Given the description of an element on the screen output the (x, y) to click on. 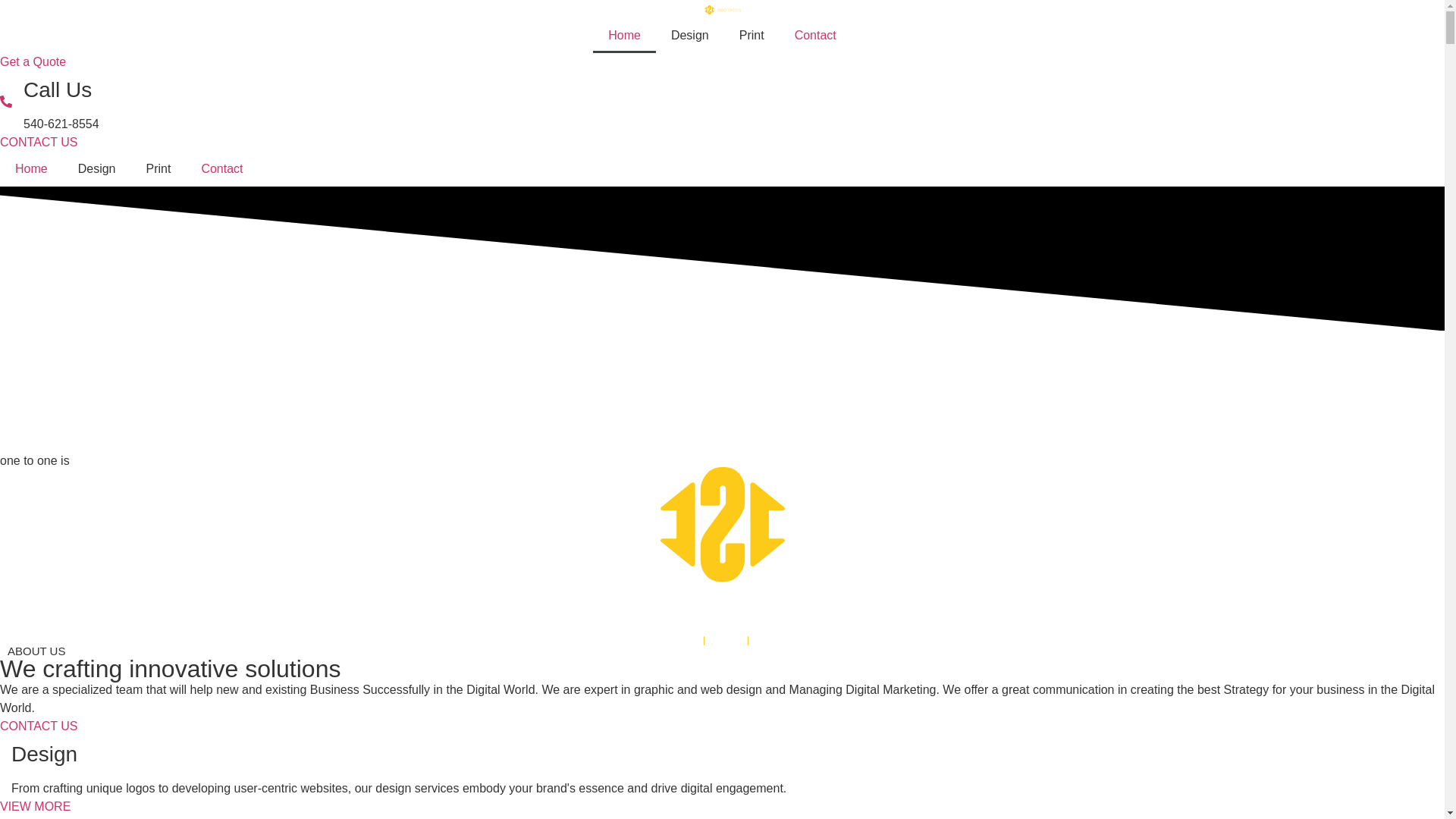
CONTACT US Element type: text (39, 725)
Home Element type: text (624, 35)
Contact Element type: text (815, 35)
Print Element type: text (157, 168)
CONTACT US Element type: text (39, 141)
VIEW MORE Element type: text (35, 806)
Get a Quote Element type: text (32, 61)
Call Us Element type: text (57, 89)
Print Element type: text (751, 35)
Home Element type: text (31, 168)
Design Element type: text (689, 35)
Contact Element type: text (221, 168)
Design Element type: text (96, 168)
